Given the description of an element on the screen output the (x, y) to click on. 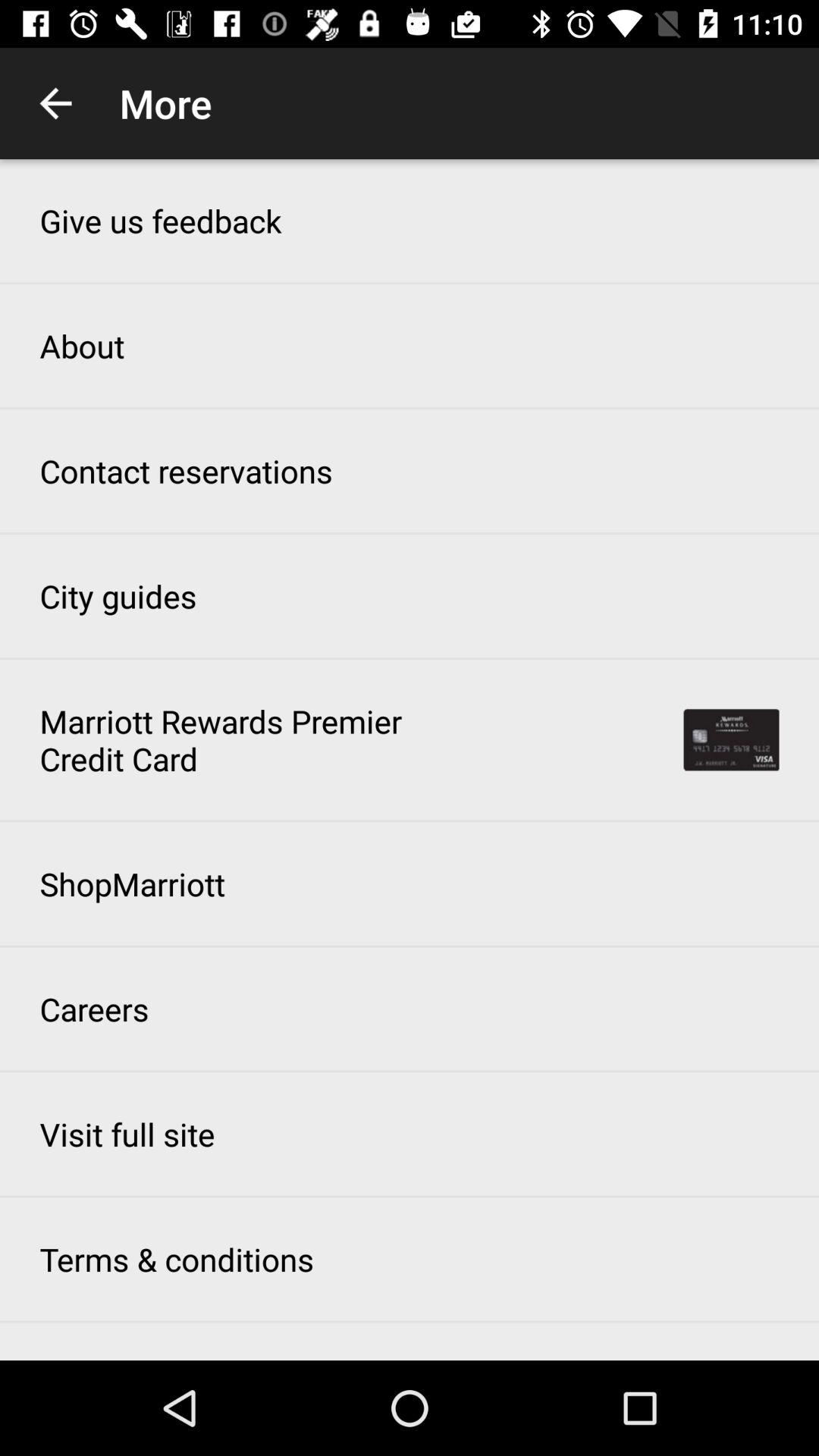
launch the marriott rewards premier icon (229, 739)
